Given the description of an element on the screen output the (x, y) to click on. 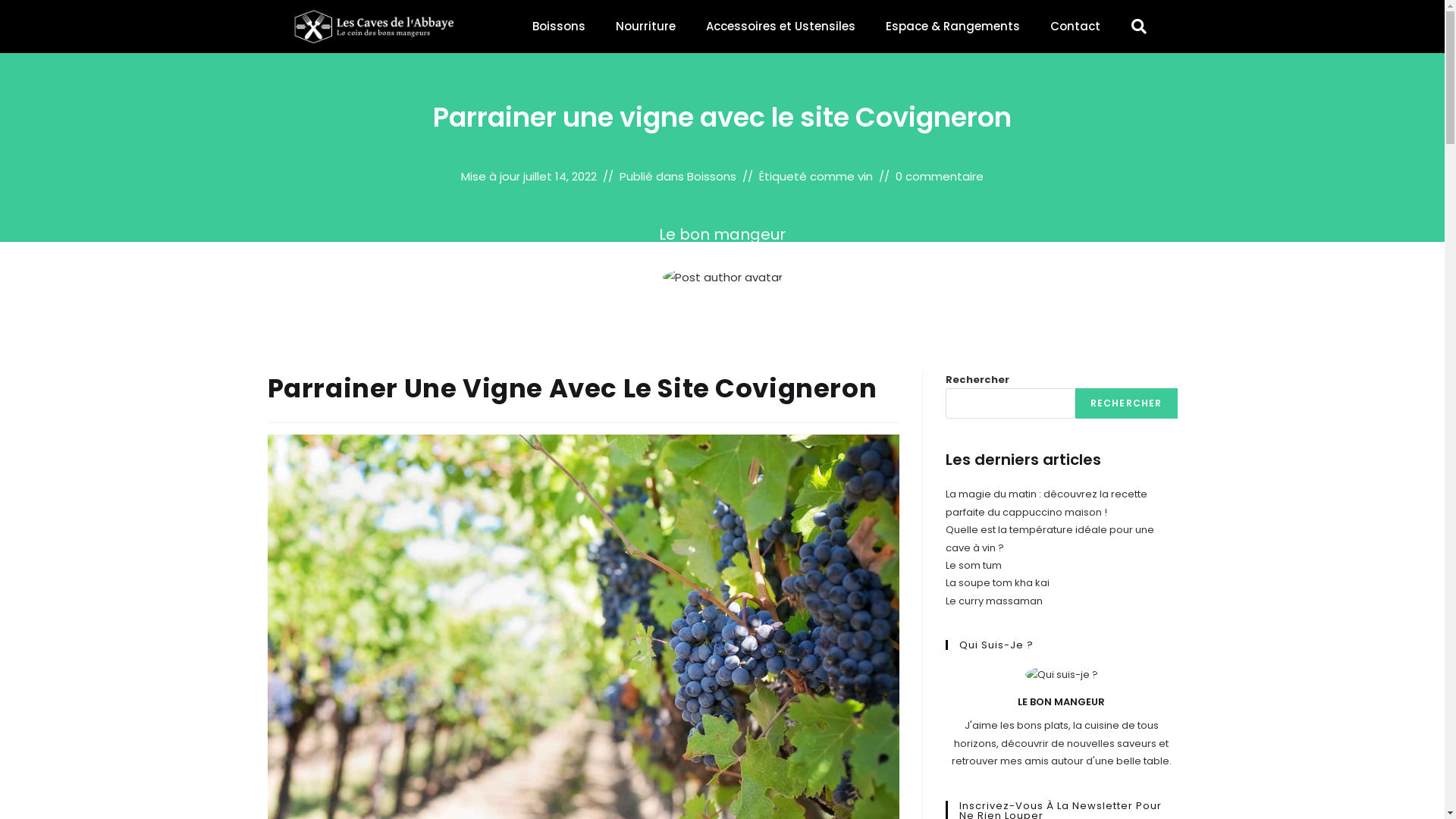
Le som tum Element type: text (972, 565)
La soupe tom kha kai Element type: text (996, 582)
Boissons Element type: text (711, 176)
0 commentaire Element type: text (939, 176)
Le bon mangeur Element type: text (721, 233)
Contact Element type: text (1074, 26)
RECHERCHER Element type: text (1126, 403)
Le curry massaman Element type: text (992, 600)
Boissons Element type: text (558, 26)
Nourriture Element type: text (645, 26)
Accessoires et Ustensiles Element type: text (779, 26)
Espace & Rangements Element type: text (952, 26)
vin Element type: text (864, 176)
